Given the description of an element on the screen output the (x, y) to click on. 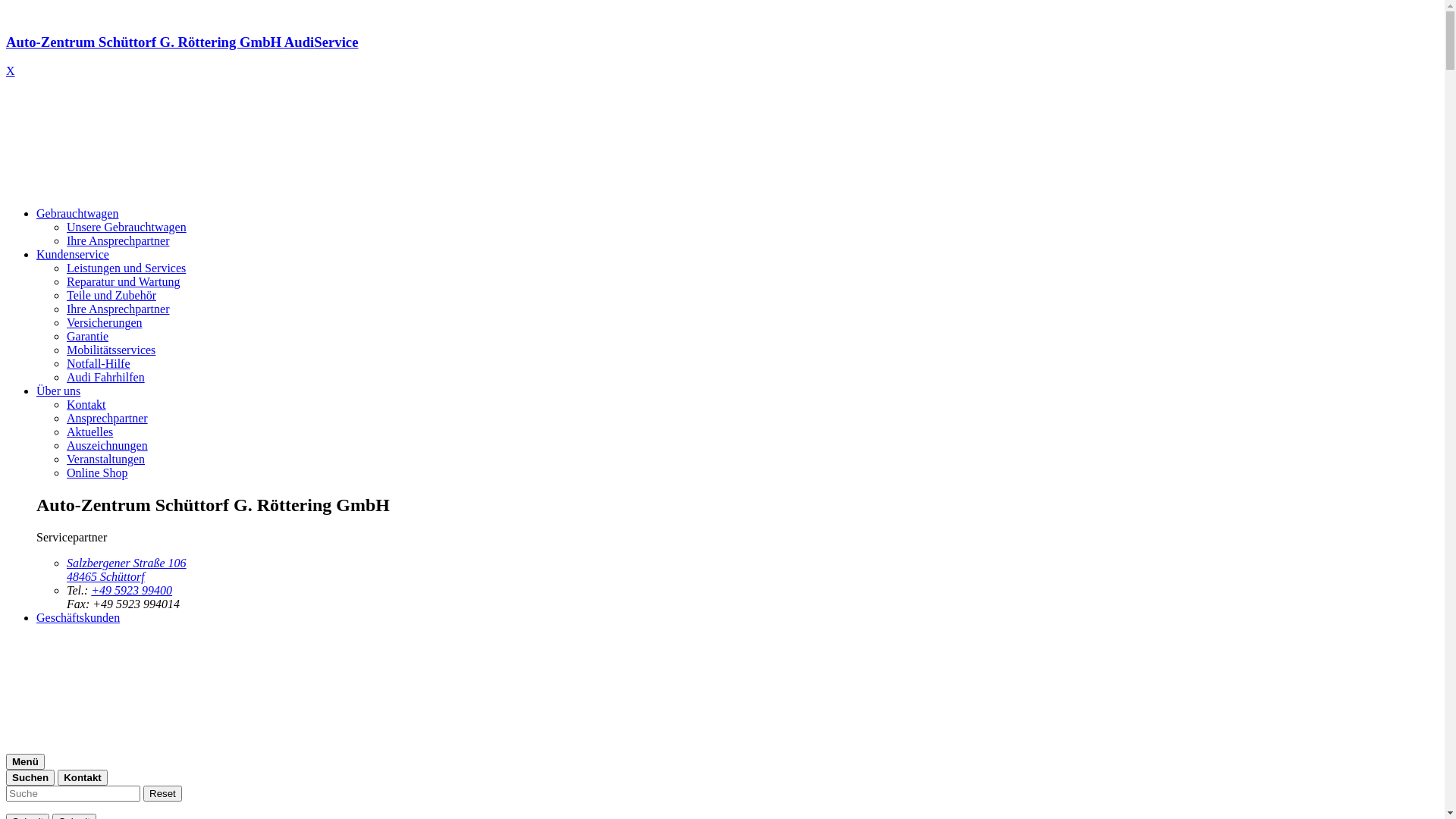
Reparatur und Wartung Element type: text (122, 281)
Auszeichnungen Element type: text (106, 445)
Ihre Ansprechpartner Element type: text (117, 240)
Kontakt Element type: text (82, 777)
Leistungen und Services Element type: text (125, 267)
Suchen Element type: text (30, 777)
Online Shop Element type: text (96, 472)
Unsere Gebrauchtwagen Element type: text (126, 226)
Ihre Ansprechpartner Element type: text (117, 308)
Gebrauchtwagen Element type: text (77, 213)
Kontakt Element type: text (86, 404)
Versicherungen Element type: text (104, 322)
Audi Fahrhilfen Element type: text (105, 376)
Aktuelles Element type: text (89, 431)
Kundenservice Element type: text (72, 253)
Ansprechpartner Element type: text (106, 417)
X Element type: text (10, 70)
Veranstaltungen Element type: text (105, 458)
+49 5923 99400 Element type: text (131, 589)
Garantie Element type: text (87, 335)
Notfall-Hilfe Element type: text (98, 363)
